Given the description of an element on the screen output the (x, y) to click on. 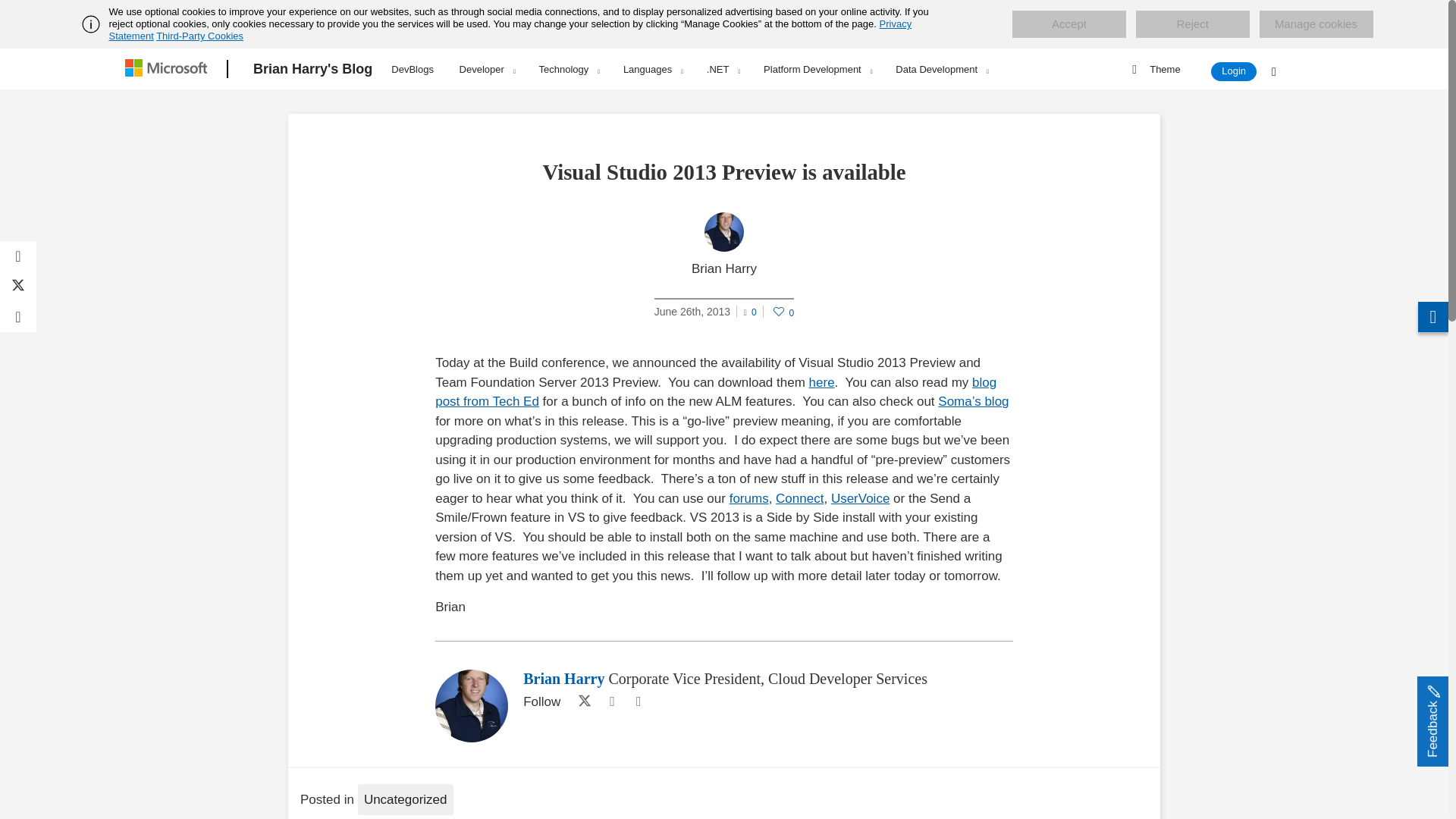
Share on LinkedIn (18, 317)
Brian Harry's Blog (313, 69)
Website (611, 701)
Share on Twitter (18, 286)
Share on Facebook (18, 255)
Languages (652, 69)
Manage cookies (1316, 23)
Privacy Statement (510, 29)
DevBlogs (412, 67)
Technology (568, 69)
